Given the description of an element on the screen output the (x, y) to click on. 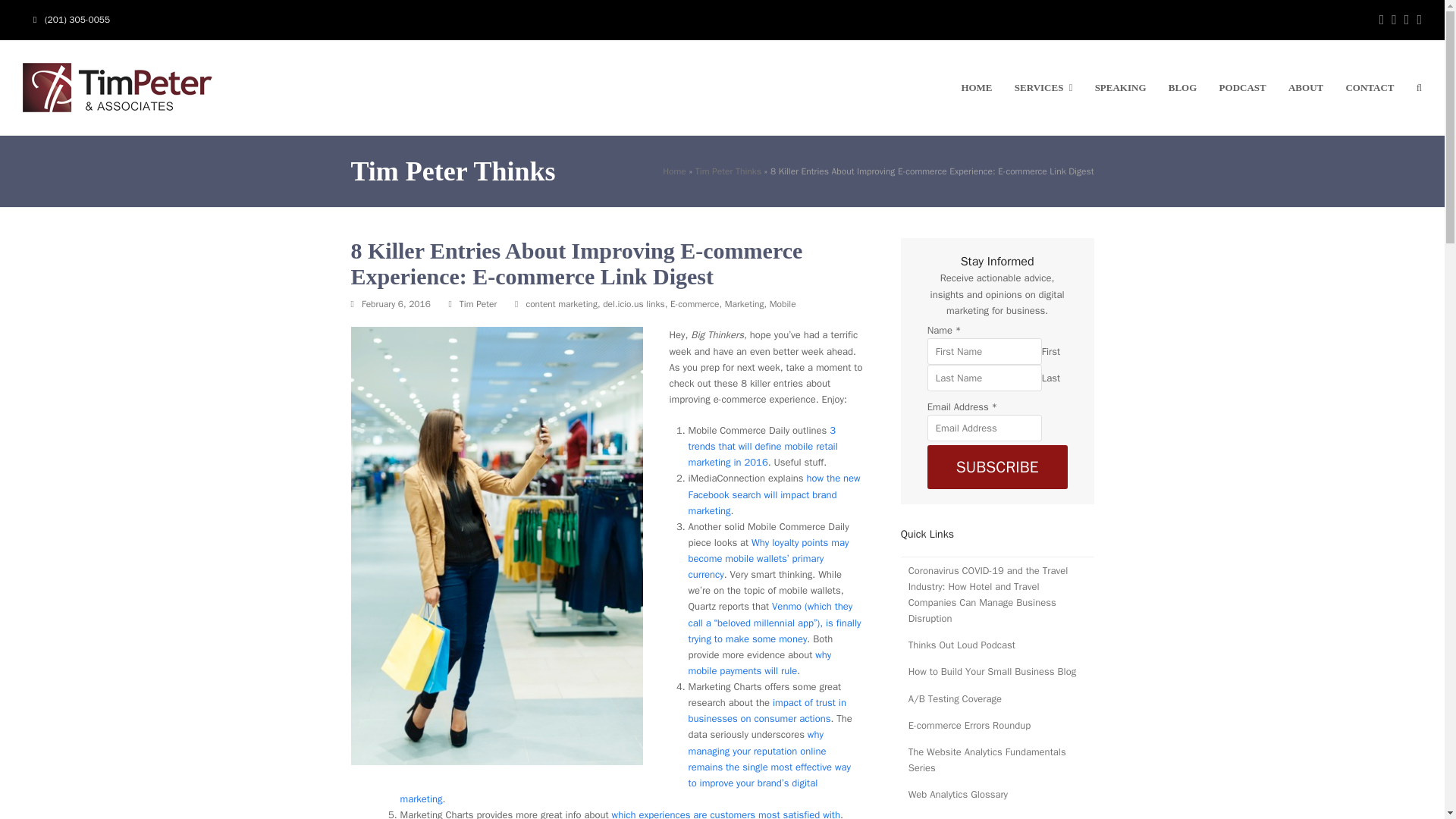
del.icio.us links (633, 304)
content marketing (560, 304)
ABOUT (1305, 87)
why mobile payments will rule (759, 662)
how the new Facebook search will impact brand marketing (774, 493)
Tim Peter Thinks (728, 171)
CONTACT (1369, 87)
Tim Peter (478, 304)
SPEAKING (1120, 87)
Digital Marketing Consulting Services (1043, 87)
